Given the description of an element on the screen output the (x, y) to click on. 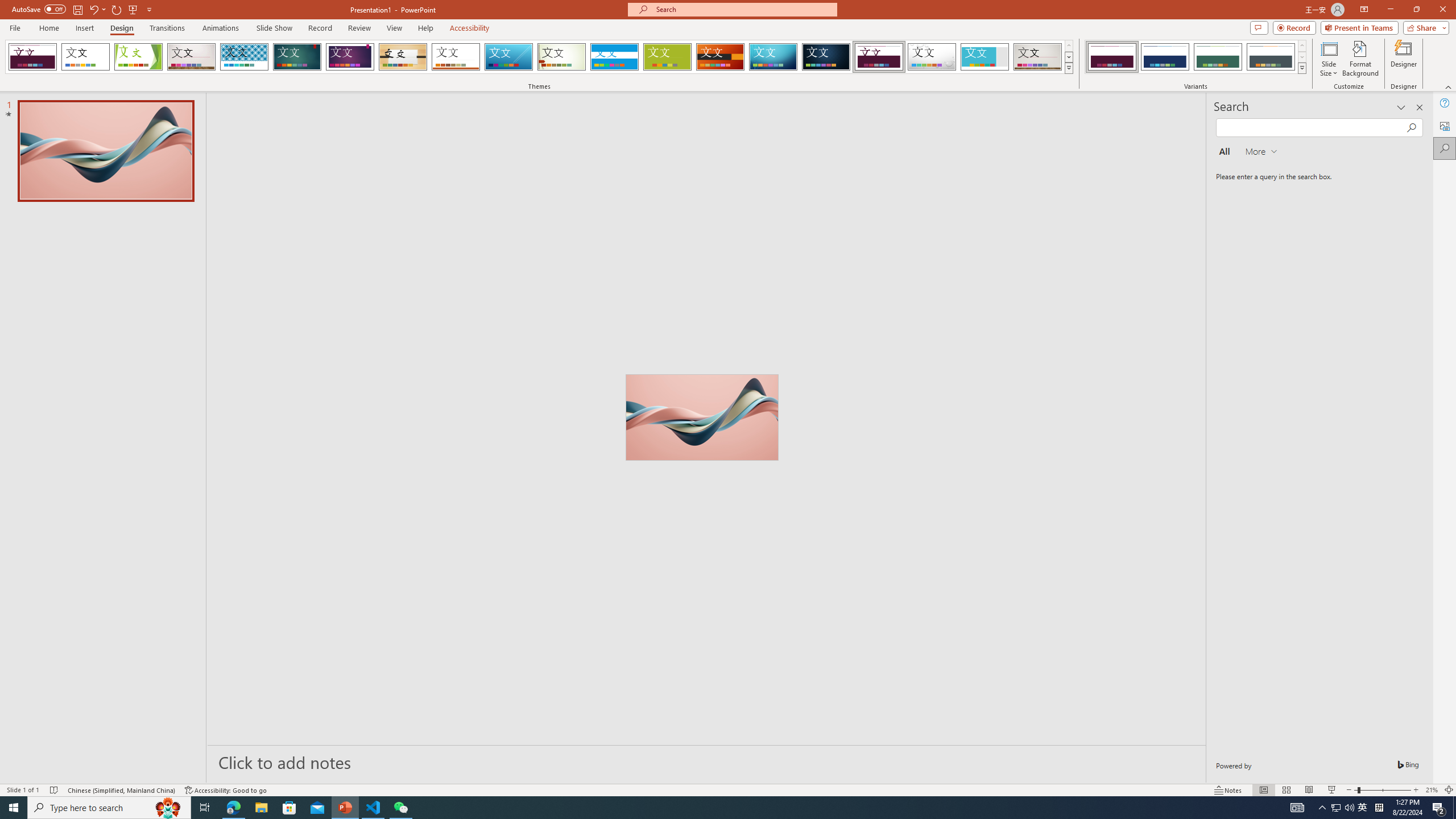
Damask (826, 56)
Retrospect (455, 56)
